Given the description of an element on the screen output the (x, y) to click on. 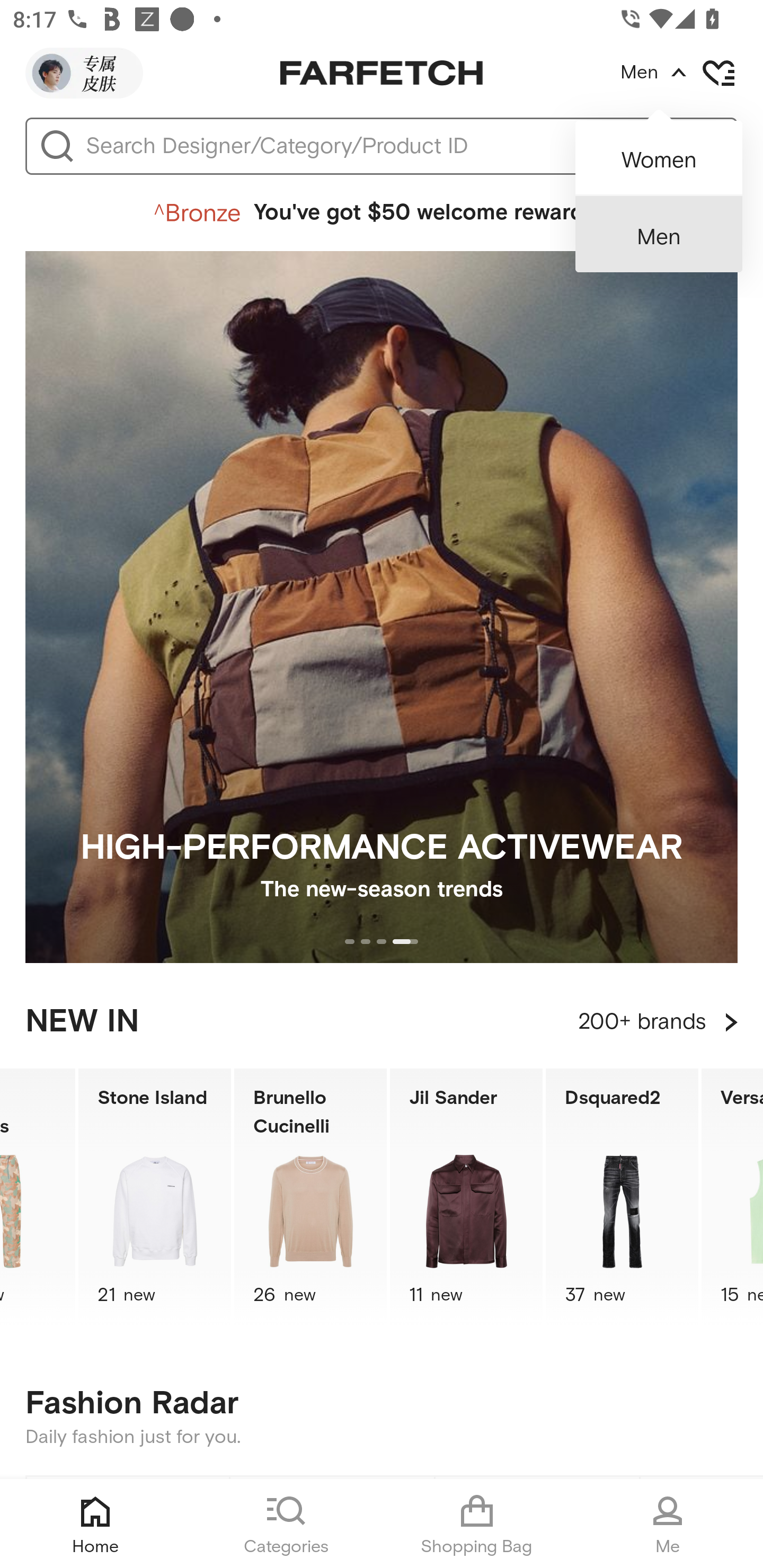
Women (658, 151)
Men (658, 234)
